Given the description of an element on the screen output the (x, y) to click on. 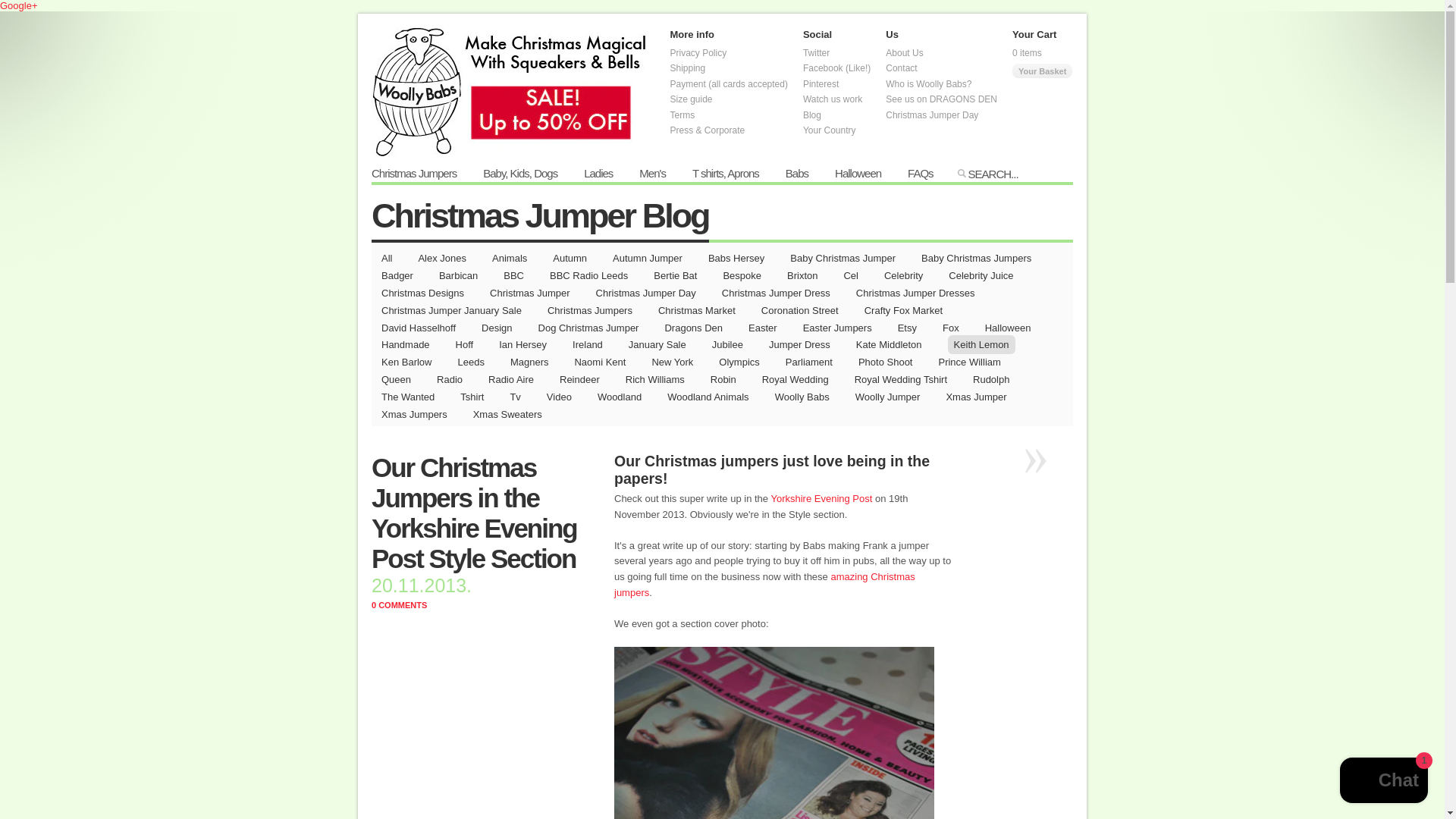
Baby, Kids, Dogs (520, 174)
Terms (682, 113)
Twitter (816, 51)
Autumn Jumper (647, 257)
About Us (904, 51)
Halloween (857, 174)
Watch us work (832, 99)
Christmas Jumpers (414, 174)
Autumn (569, 257)
Terms (682, 113)
Size guide (691, 99)
Who is Woolly Babs? (928, 83)
Men's (652, 174)
Size guide (691, 99)
About Us (904, 51)
